Given the description of an element on the screen output the (x, y) to click on. 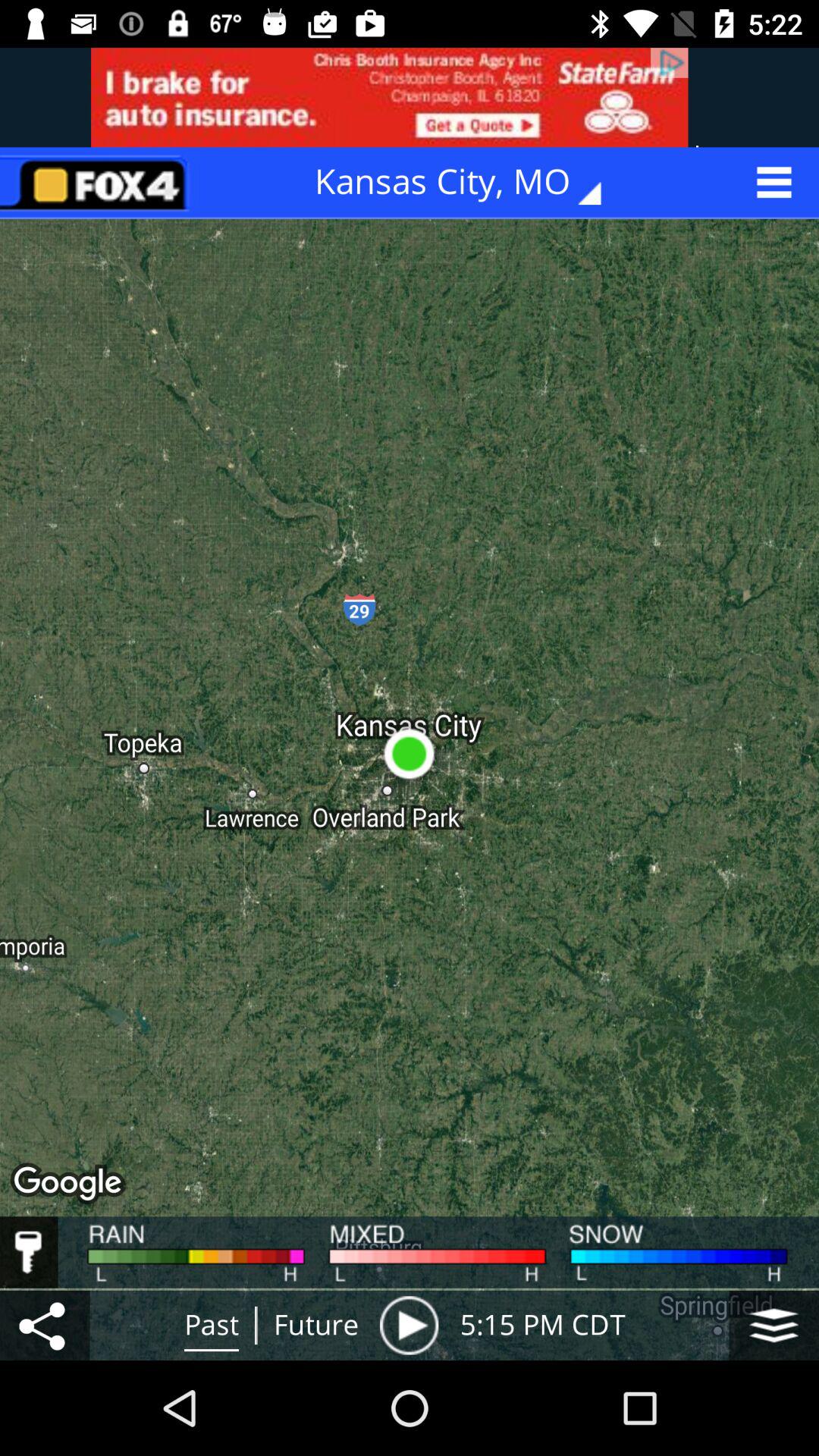
go to homepage (99, 182)
